Given the description of an element on the screen output the (x, y) to click on. 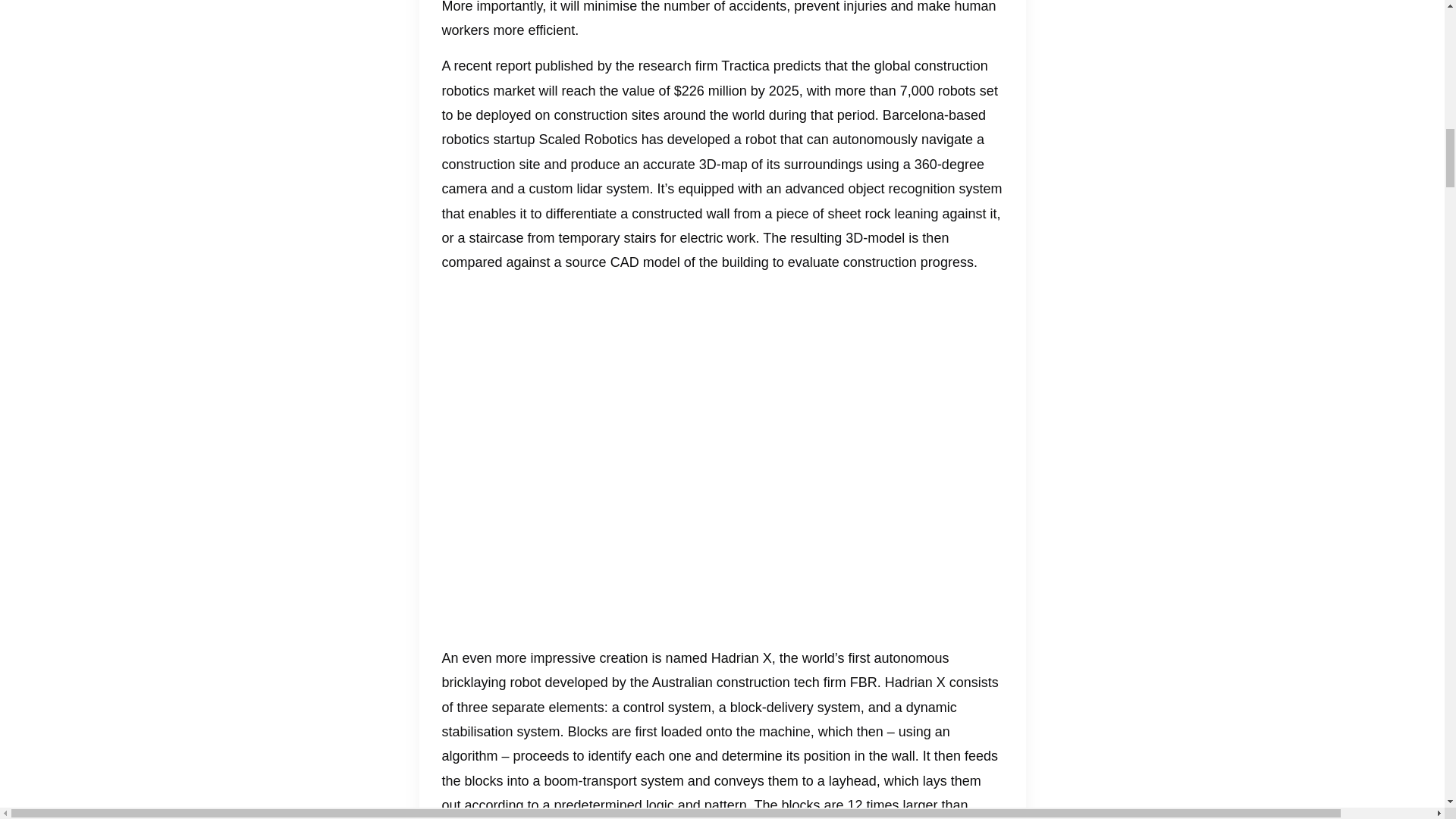
predicts (797, 65)
developed (698, 139)
developed (576, 682)
